Given the description of an element on the screen output the (x, y) to click on. 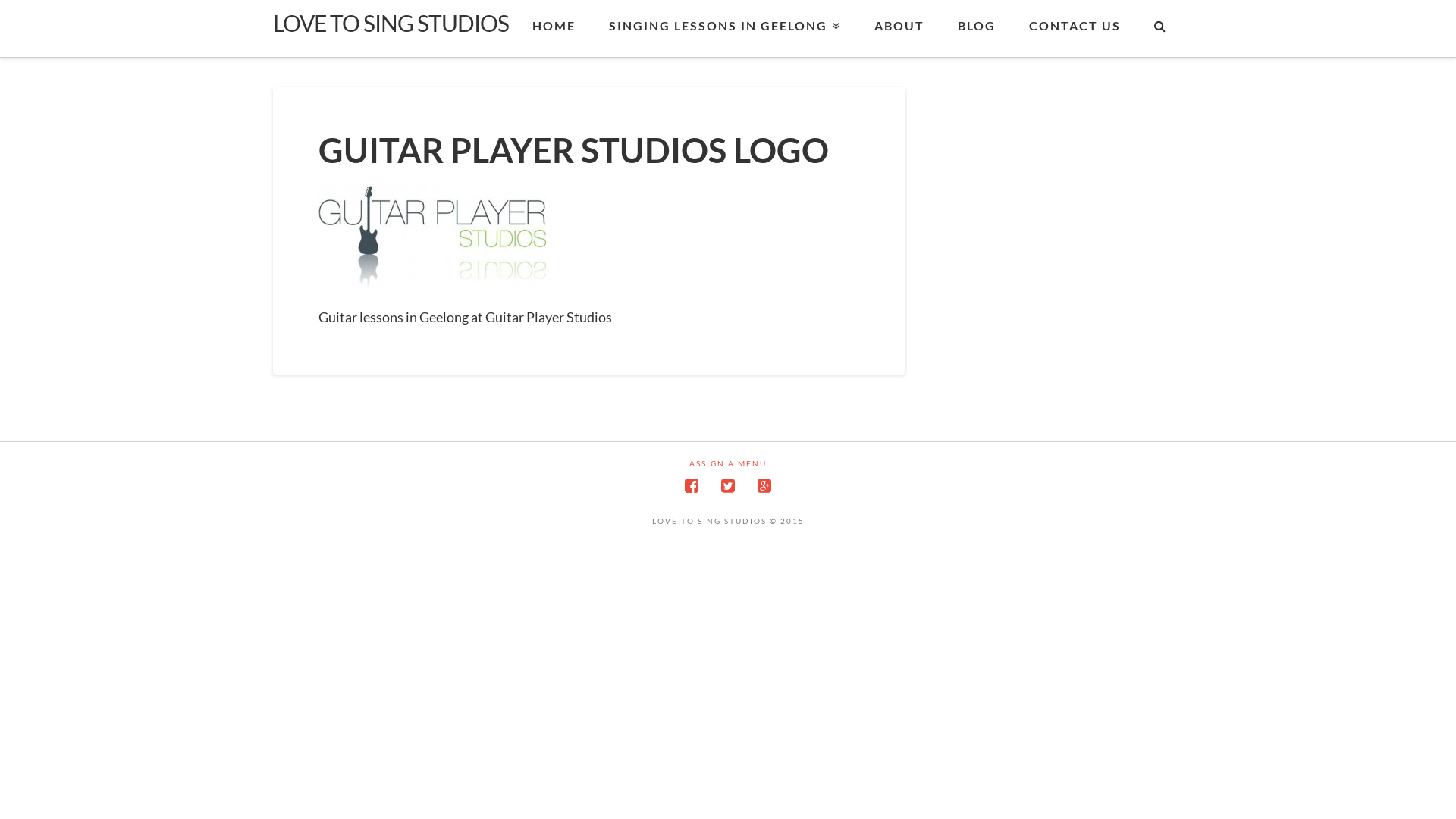
Facebook Element type: hover (691, 485)
HOME Element type: text (552, 28)
ABOUT Element type: text (898, 28)
ASSIGN A MENU Element type: text (727, 463)
CONTACT US Element type: text (1073, 28)
BLOG Element type: text (975, 28)
Twitter Element type: hover (727, 485)
LOVE TO SING STUDIOS Element type: text (390, 22)
SINGING LESSONS IN GEELONG Element type: text (723, 28)
Google+ Element type: hover (764, 485)
